Given the description of an element on the screen output the (x, y) to click on. 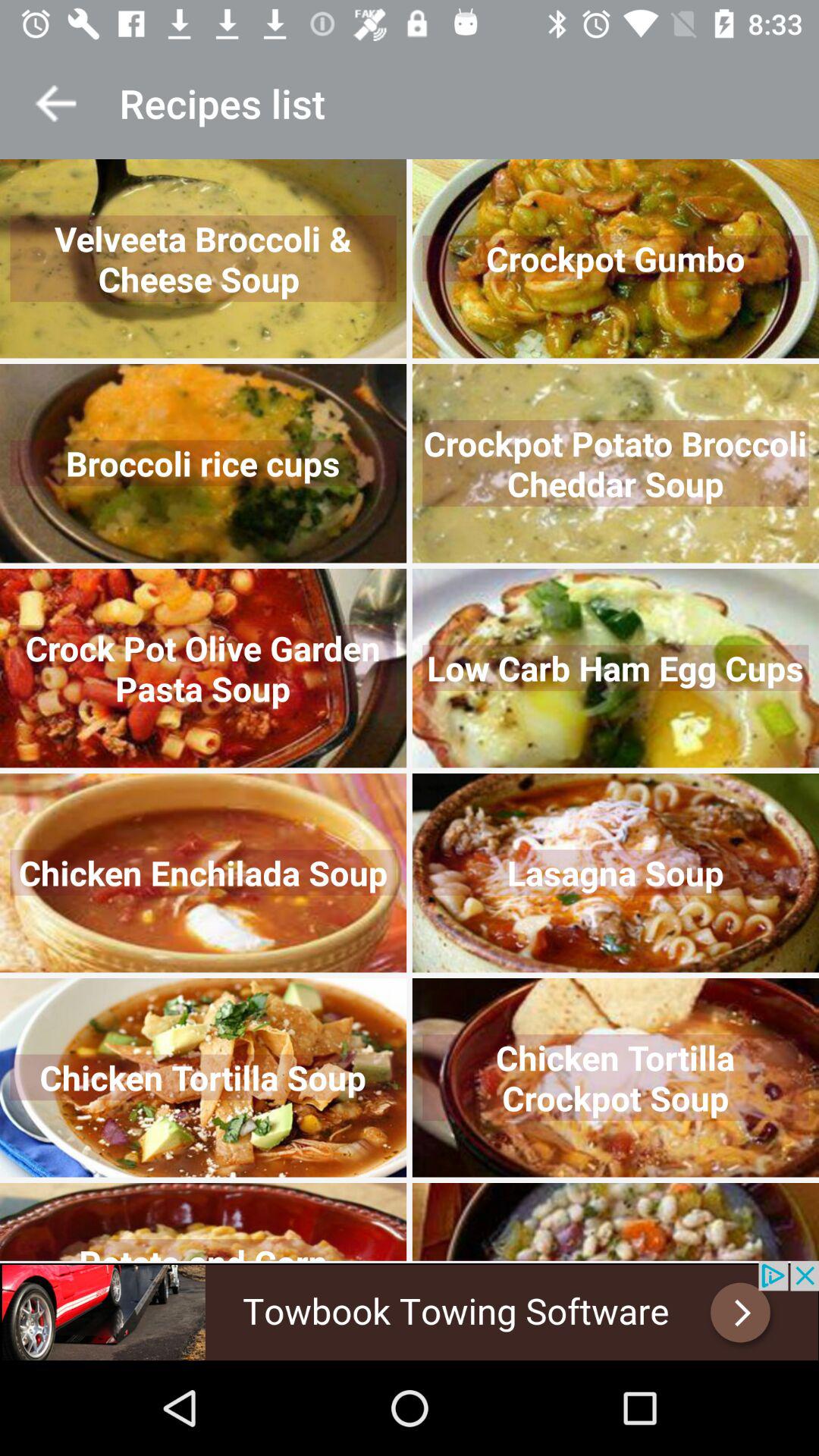
advertisement (409, 1310)
